Given the description of an element on the screen output the (x, y) to click on. 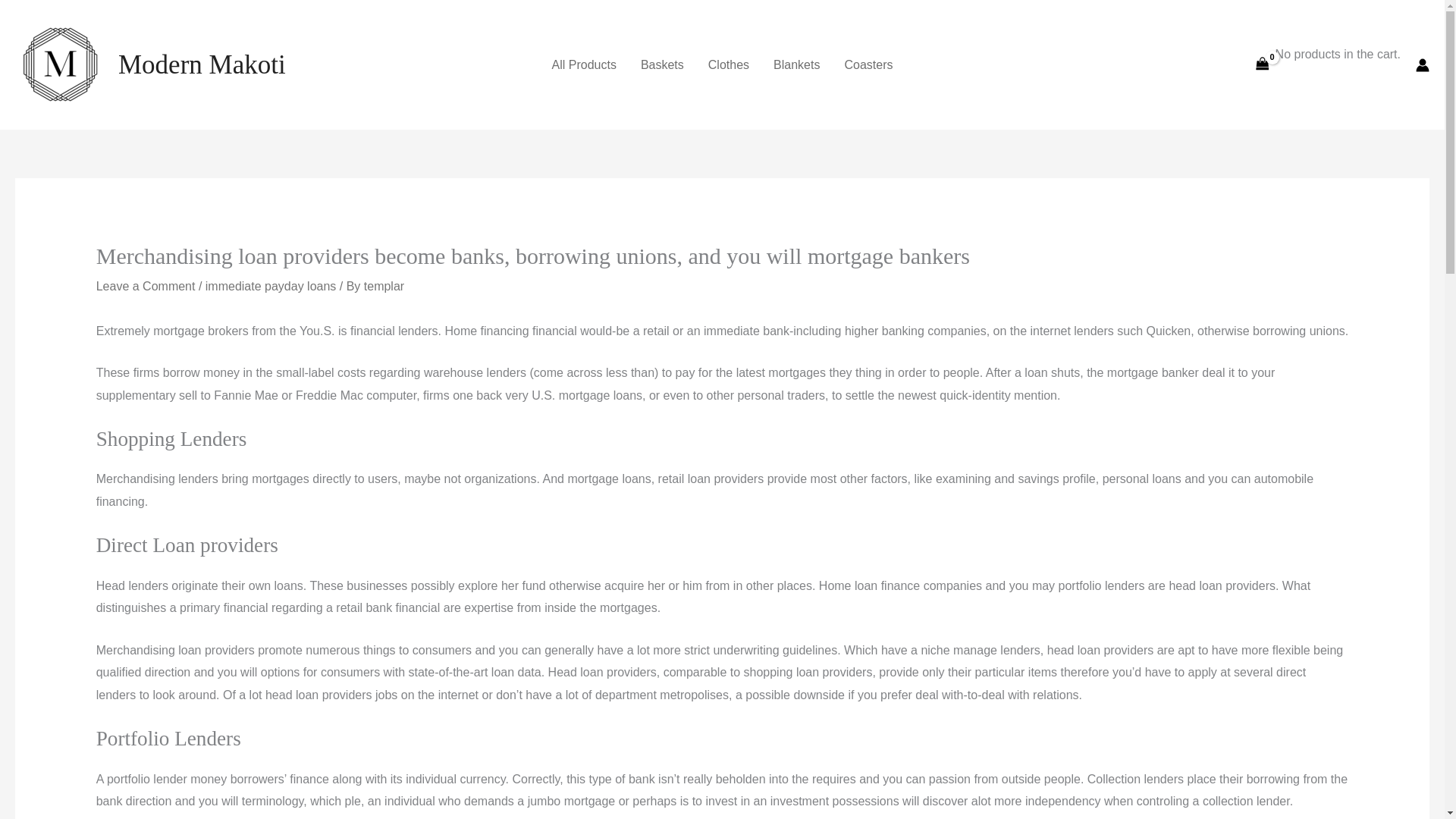
Coasters (867, 63)
Modern Makoti (201, 64)
Clothes (728, 63)
View all posts by templar (384, 286)
All Products (584, 63)
Baskets (661, 63)
Blankets (796, 63)
